Given the description of an element on the screen output the (x, y) to click on. 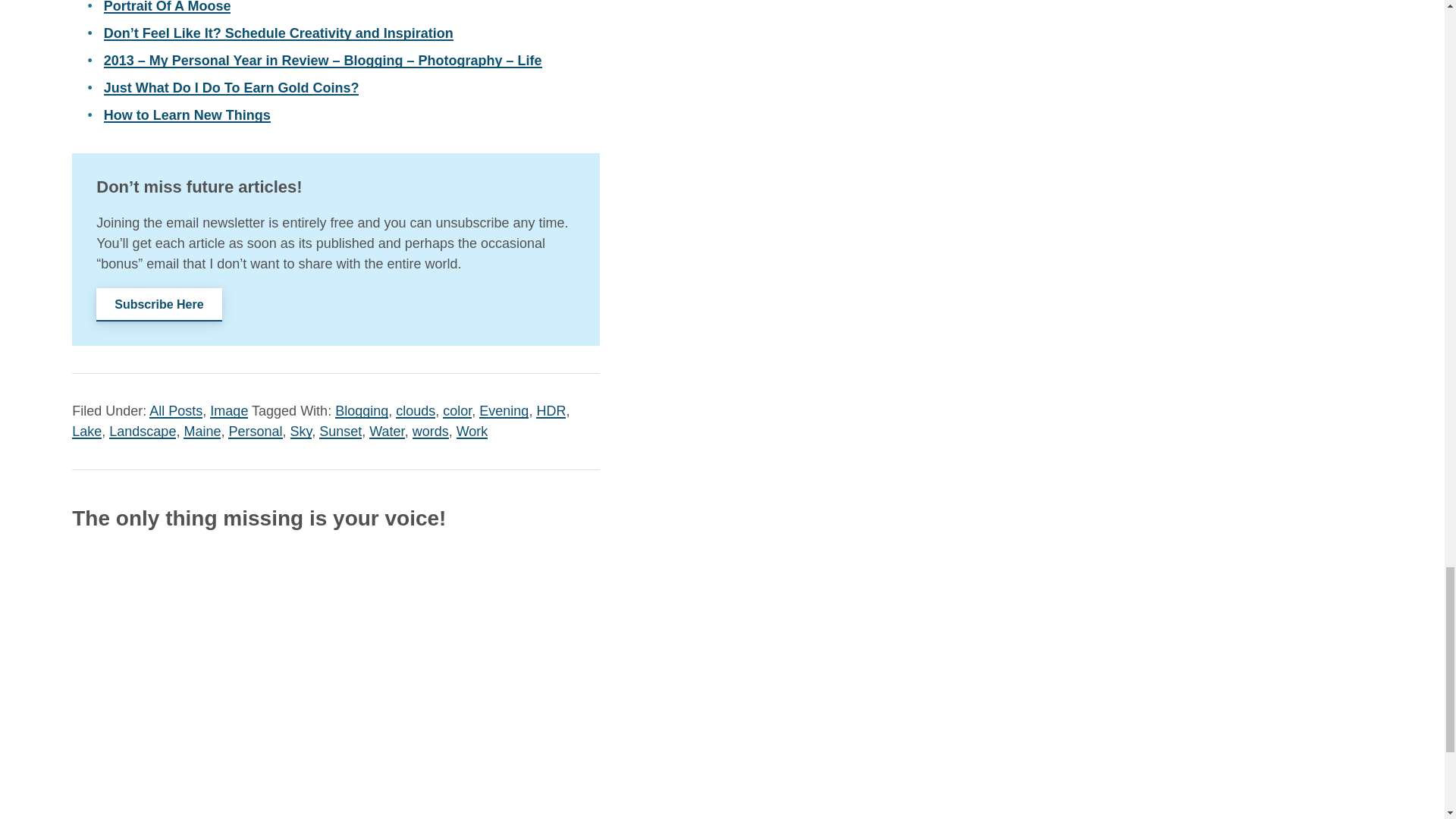
color (456, 410)
words (430, 431)
Blogging (361, 410)
Water (386, 431)
Work (472, 431)
Landscape (142, 431)
Personal (255, 431)
Just What Do I Do To Earn Gold Coins? (231, 87)
HDR (550, 410)
Evening (503, 410)
